Given the description of an element on the screen output the (x, y) to click on. 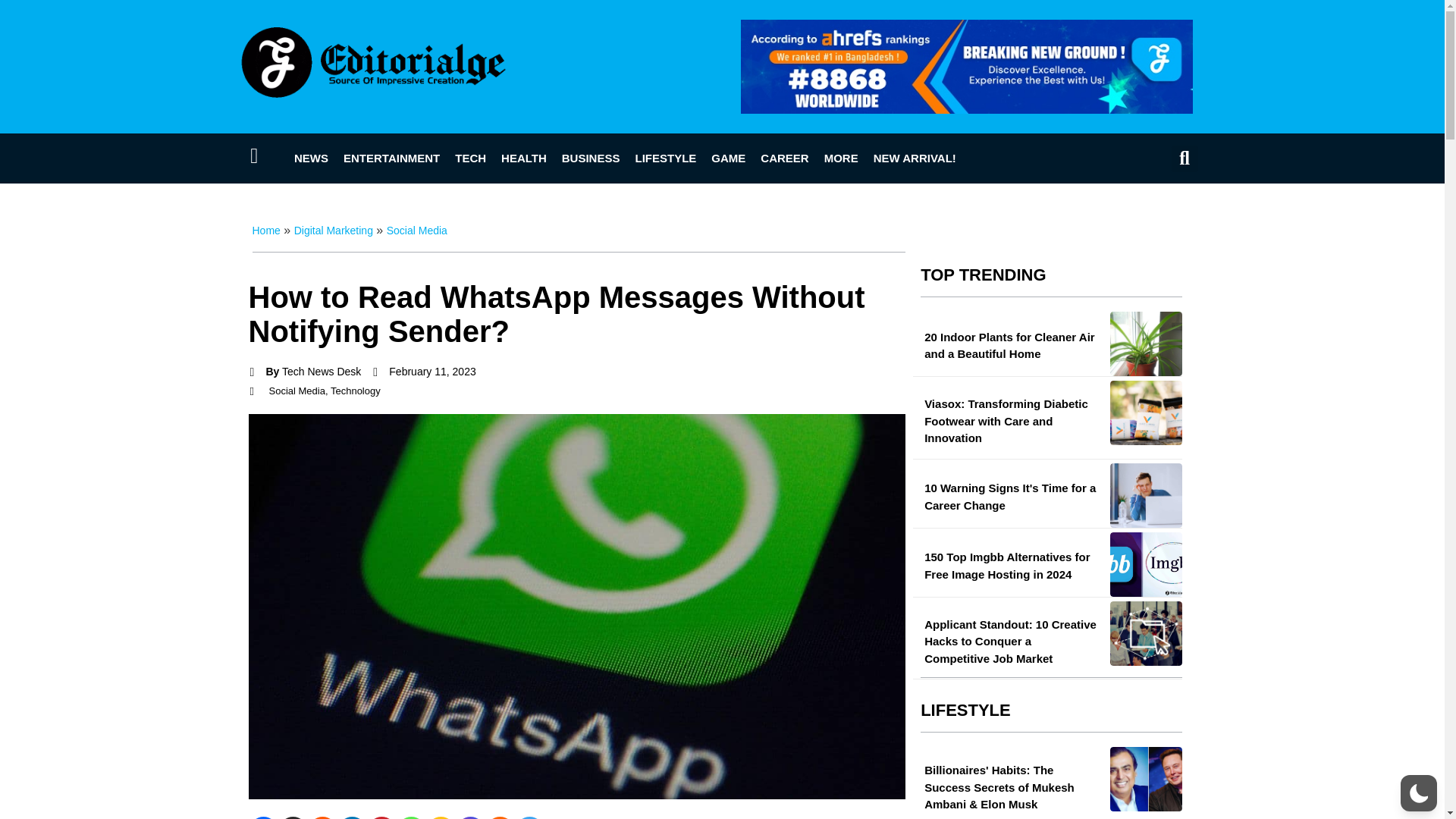
Copy Link (441, 817)
Linkedin (351, 817)
Whatsapp (410, 817)
GAME (727, 158)
HEALTH (523, 158)
Pinterest (381, 817)
X (292, 817)
Instagram (470, 817)
Print (499, 817)
BUSINESS (590, 158)
Telegram (528, 817)
Facebook (263, 817)
ENTERTAINMENT (391, 158)
Reddit (322, 817)
NEWS (311, 158)
